Given the description of an element on the screen output the (x, y) to click on. 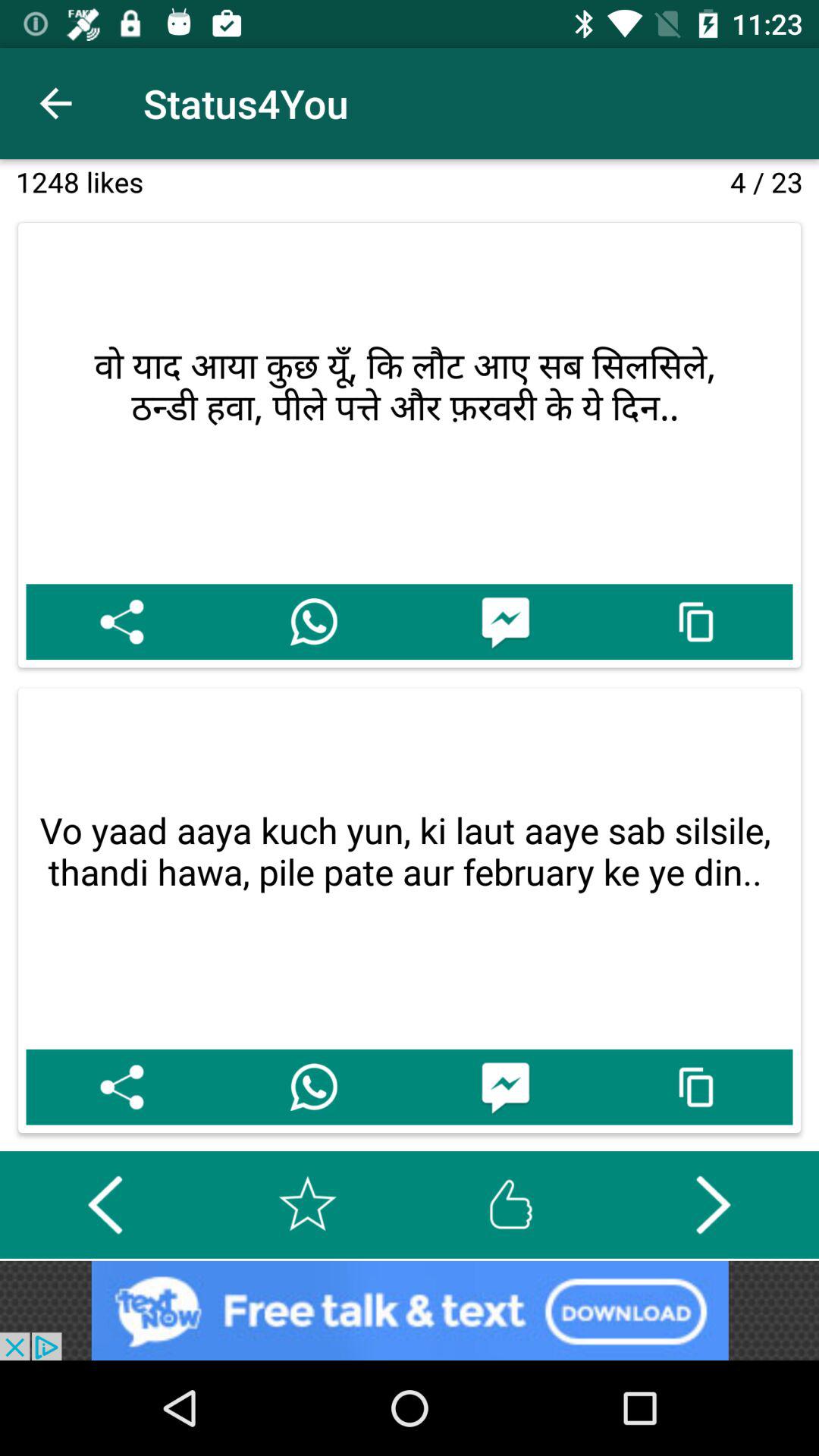
copy button (696, 621)
